Given the description of an element on the screen output the (x, y) to click on. 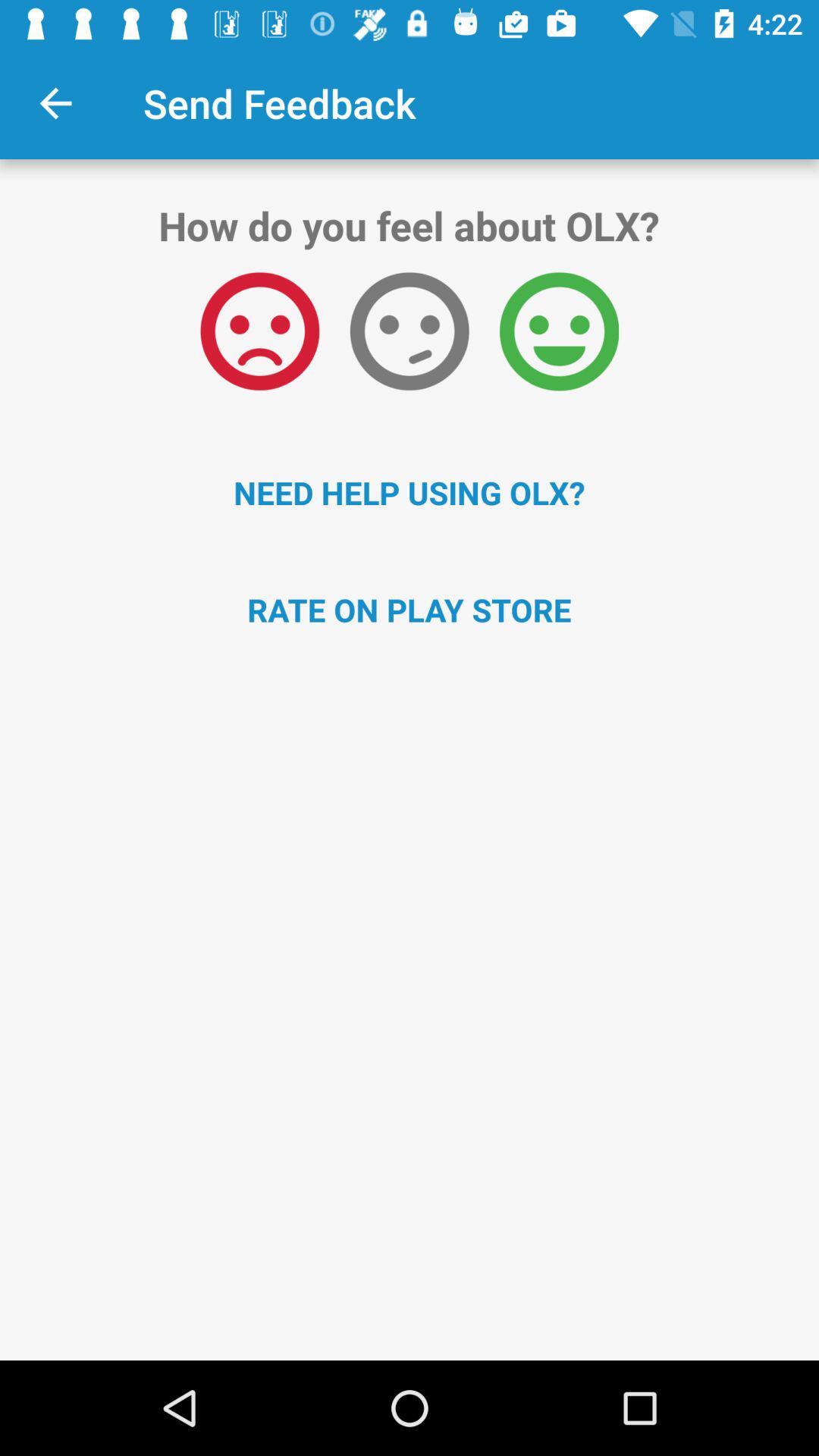
choose icon above the need help using item (259, 331)
